Given the description of an element on the screen output the (x, y) to click on. 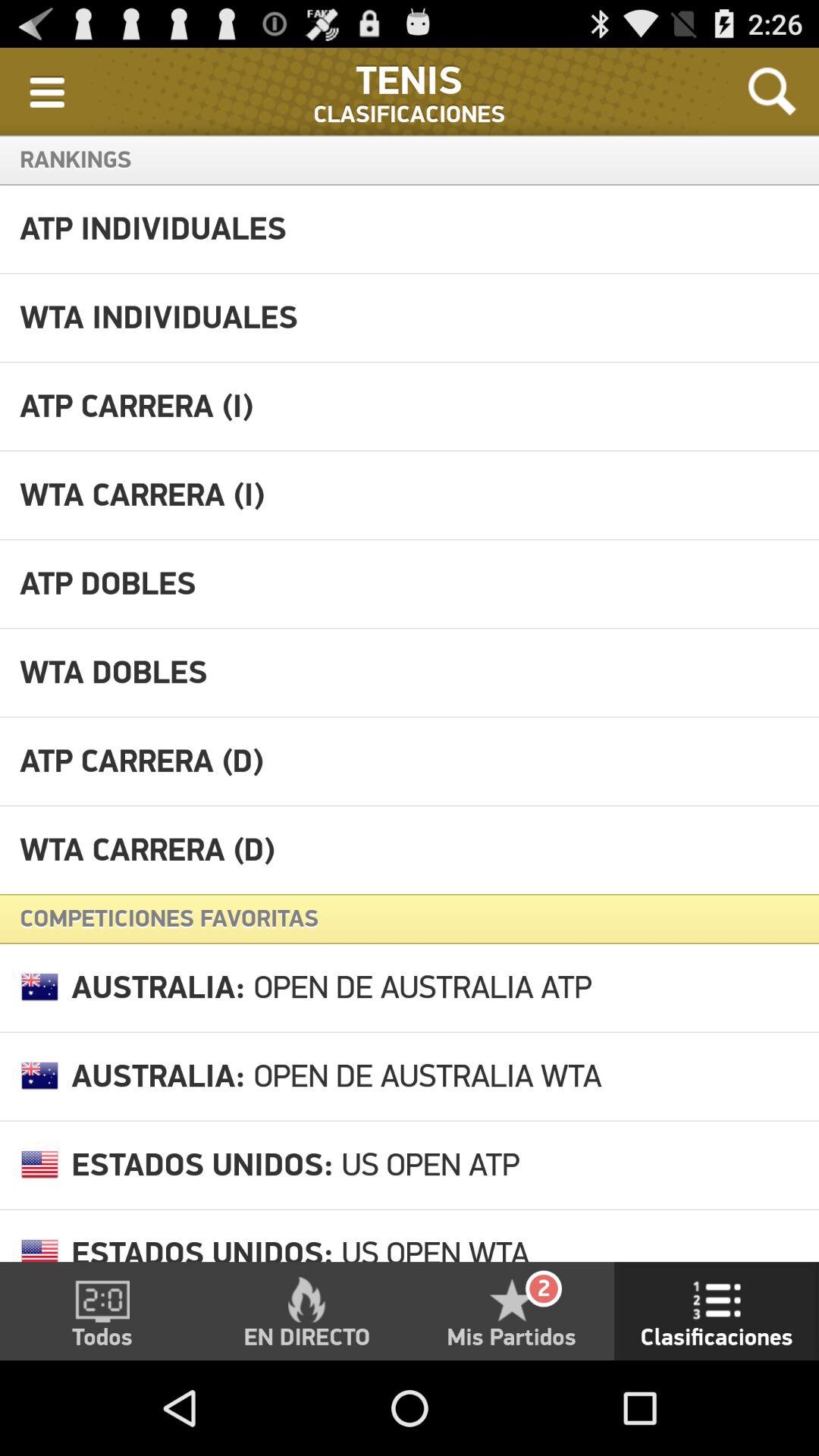
turn on the item next to clasificaciones (772, 91)
